Given the description of an element on the screen output the (x, y) to click on. 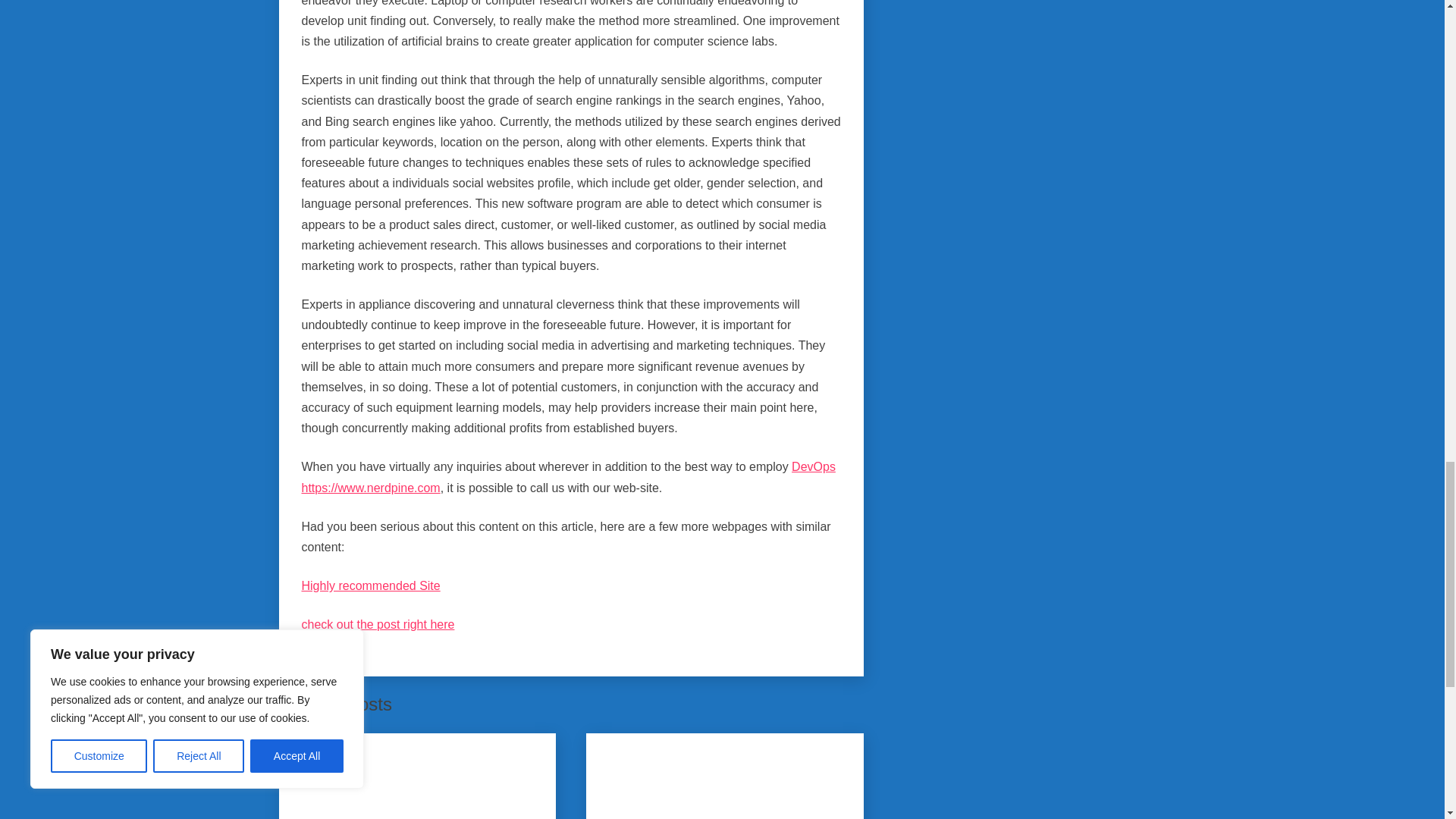
Highly recommended Site (371, 585)
check out the post right here (377, 624)
